Given the description of an element on the screen output the (x, y) to click on. 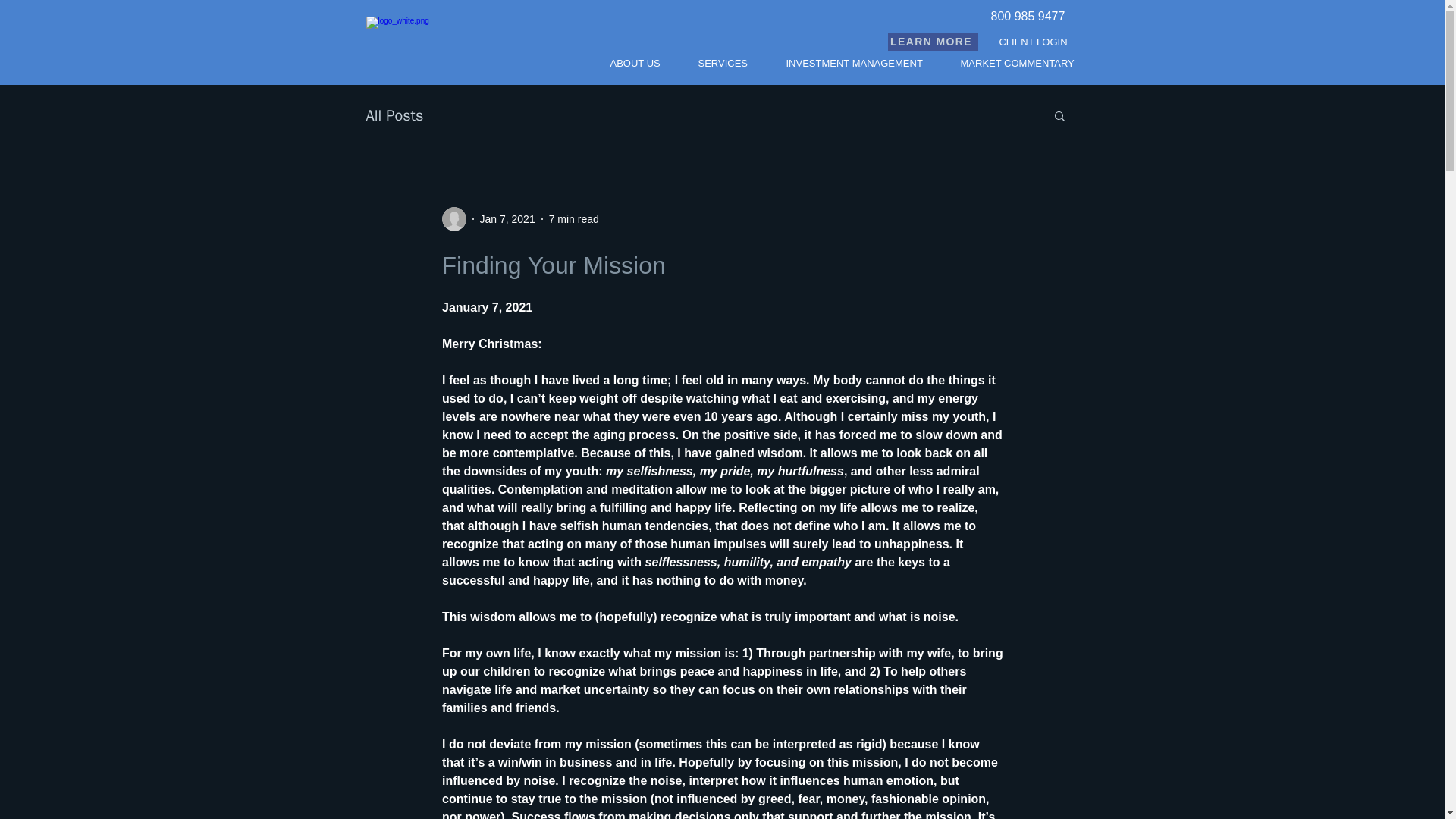
CLIENT LOGIN (1034, 41)
7 min read (573, 218)
ABOUT US (635, 61)
Jan 7, 2021 (506, 218)
SERVICES (723, 61)
All Posts (394, 114)
LEARN MORE (931, 41)
INVESTMENT MANAGEMENT (854, 61)
MARKET COMMENTARY (1017, 61)
